Given the description of an element on the screen output the (x, y) to click on. 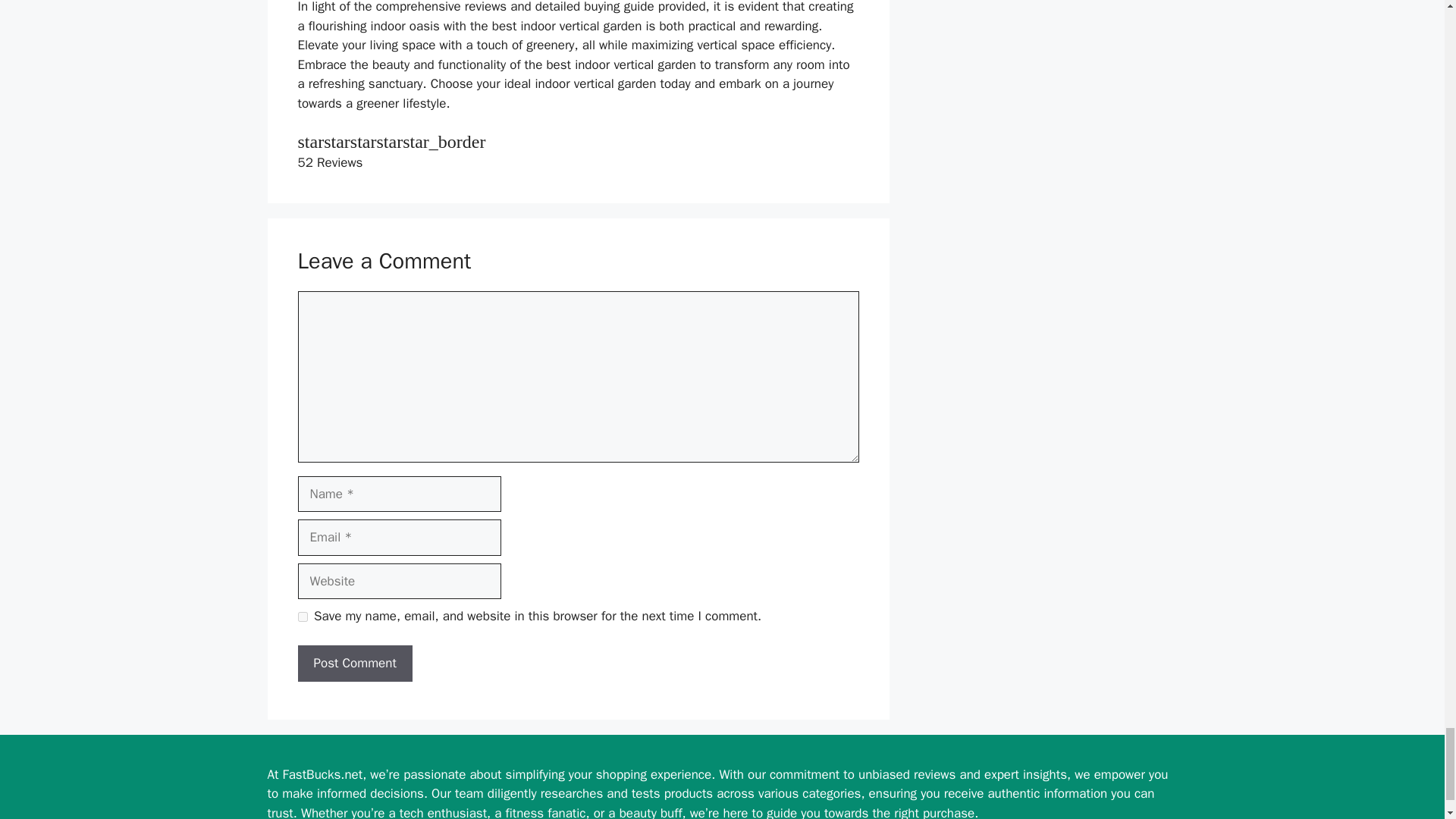
yes (302, 616)
Post Comment (354, 663)
